Given the description of an element on the screen output the (x, y) to click on. 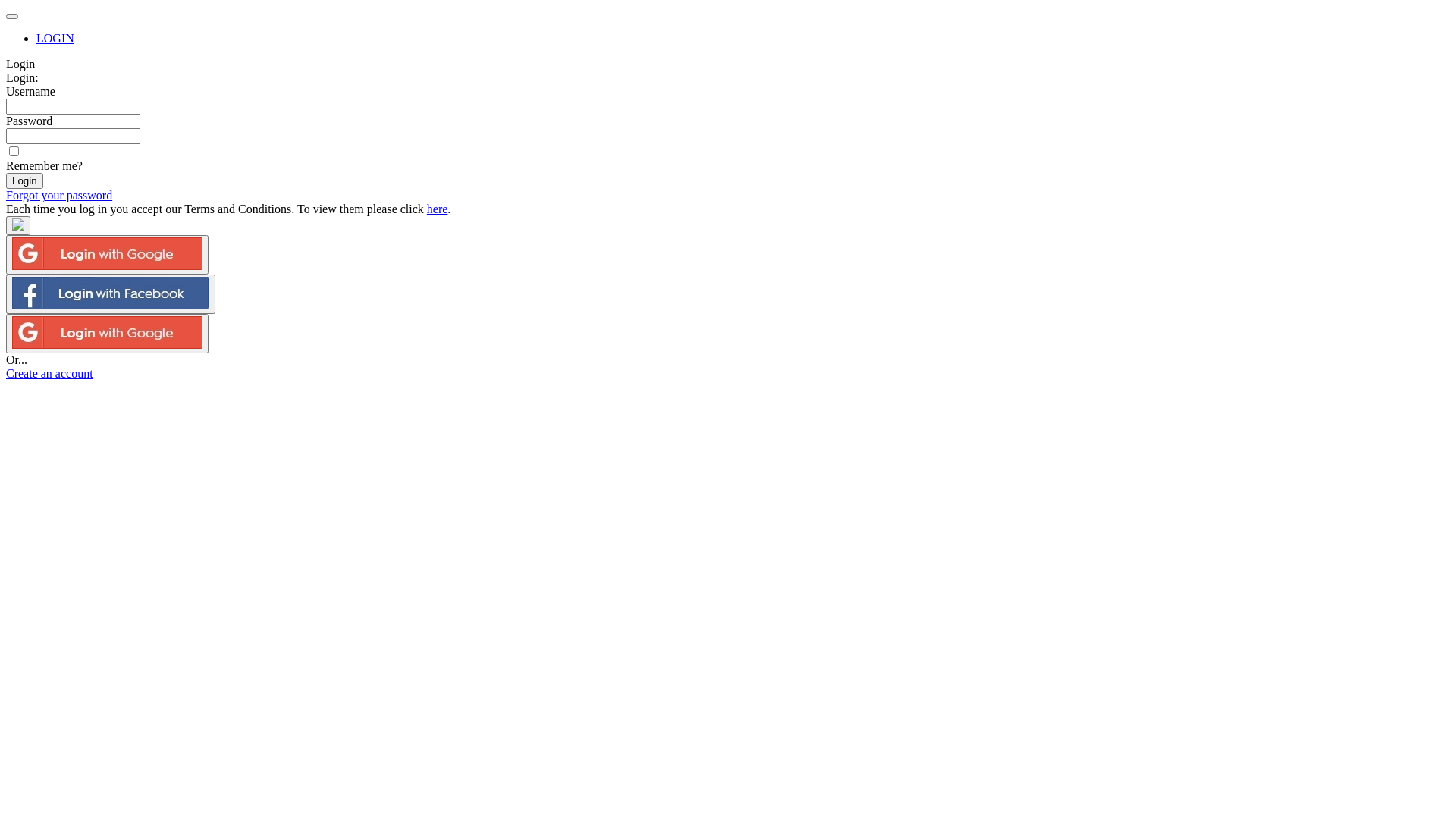
LOGIN Element type: text (55, 37)
Facebook Element type: text (110, 293)
Create an account Element type: text (49, 373)
Log in using your Google account Element type: hover (107, 254)
Google Element type: text (107, 333)
Forgot your password Element type: text (59, 194)
here Element type: text (437, 208)
Login Element type: text (24, 180)
Google Element type: text (107, 254)
Facebook Element type: text (18, 225)
Log in using your Facebook account Element type: hover (18, 225)
Log in using your Facebook account Element type: hover (110, 293)
Log in using your Google account Element type: hover (107, 333)
